Given the description of an element on the screen output the (x, y) to click on. 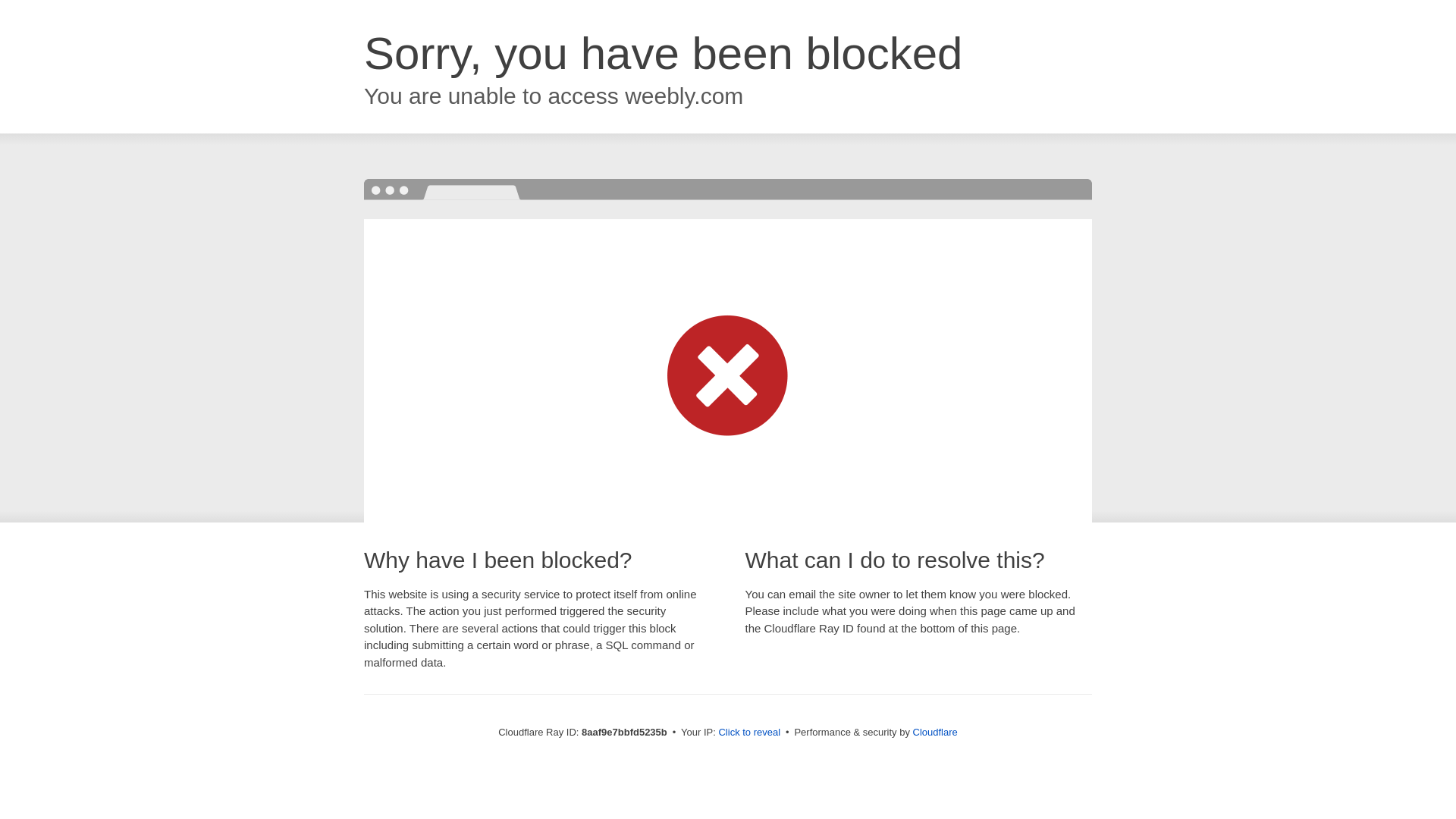
Cloudflare (935, 731)
Click to reveal (748, 732)
